Given the description of an element on the screen output the (x, y) to click on. 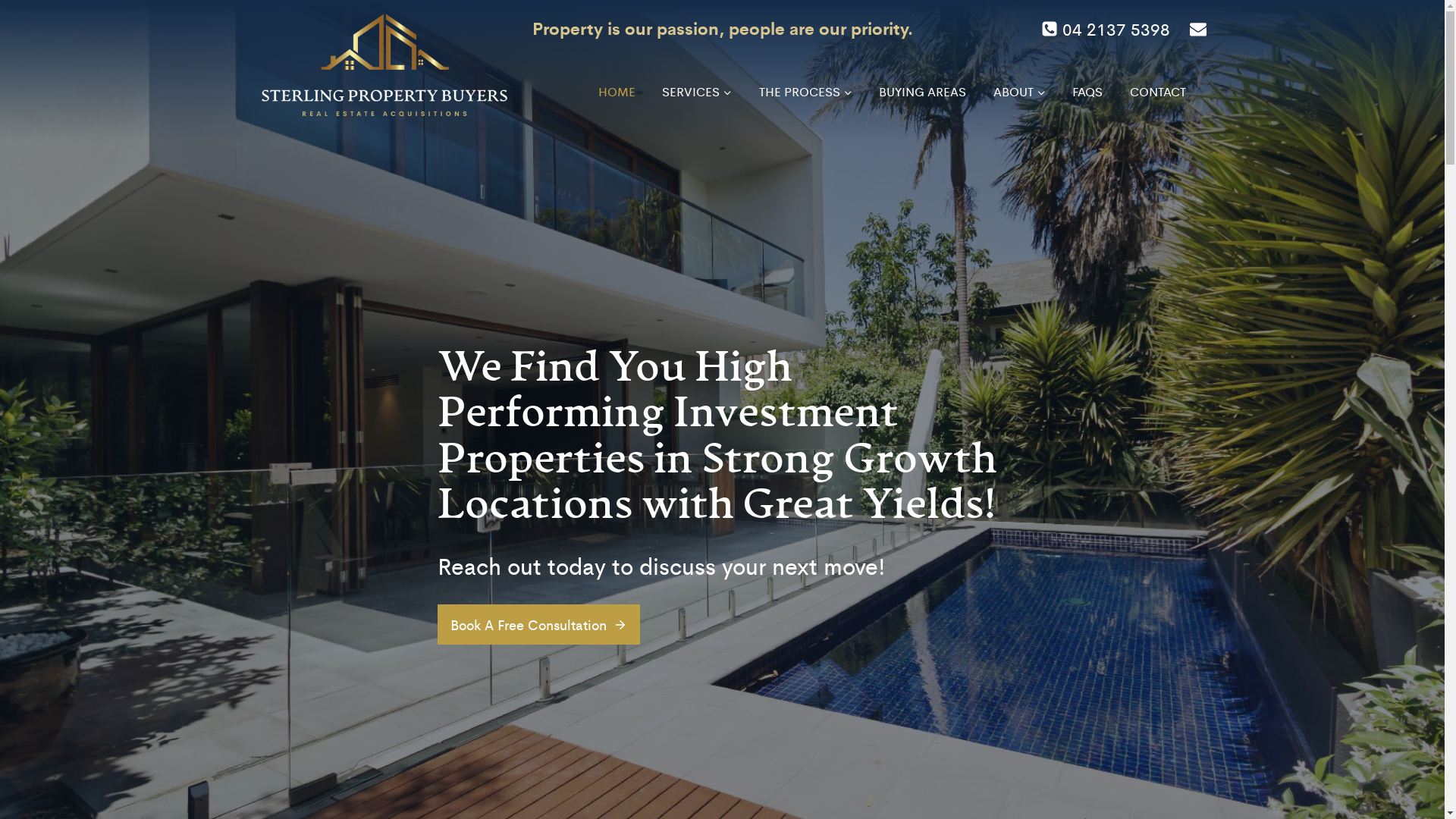
CONTACT Element type: text (1157, 92)
Book A Free Consultation Element type: text (537, 624)
THE PROCESS Element type: text (805, 92)
FAQS Element type: text (1087, 92)
ABOUT Element type: text (1018, 92)
BUYING AREAS Element type: text (922, 92)
04 2137 5398 Element type: text (1105, 28)
HOME Element type: text (616, 92)
SERVICES Element type: text (697, 92)
